Given the description of an element on the screen output the (x, y) to click on. 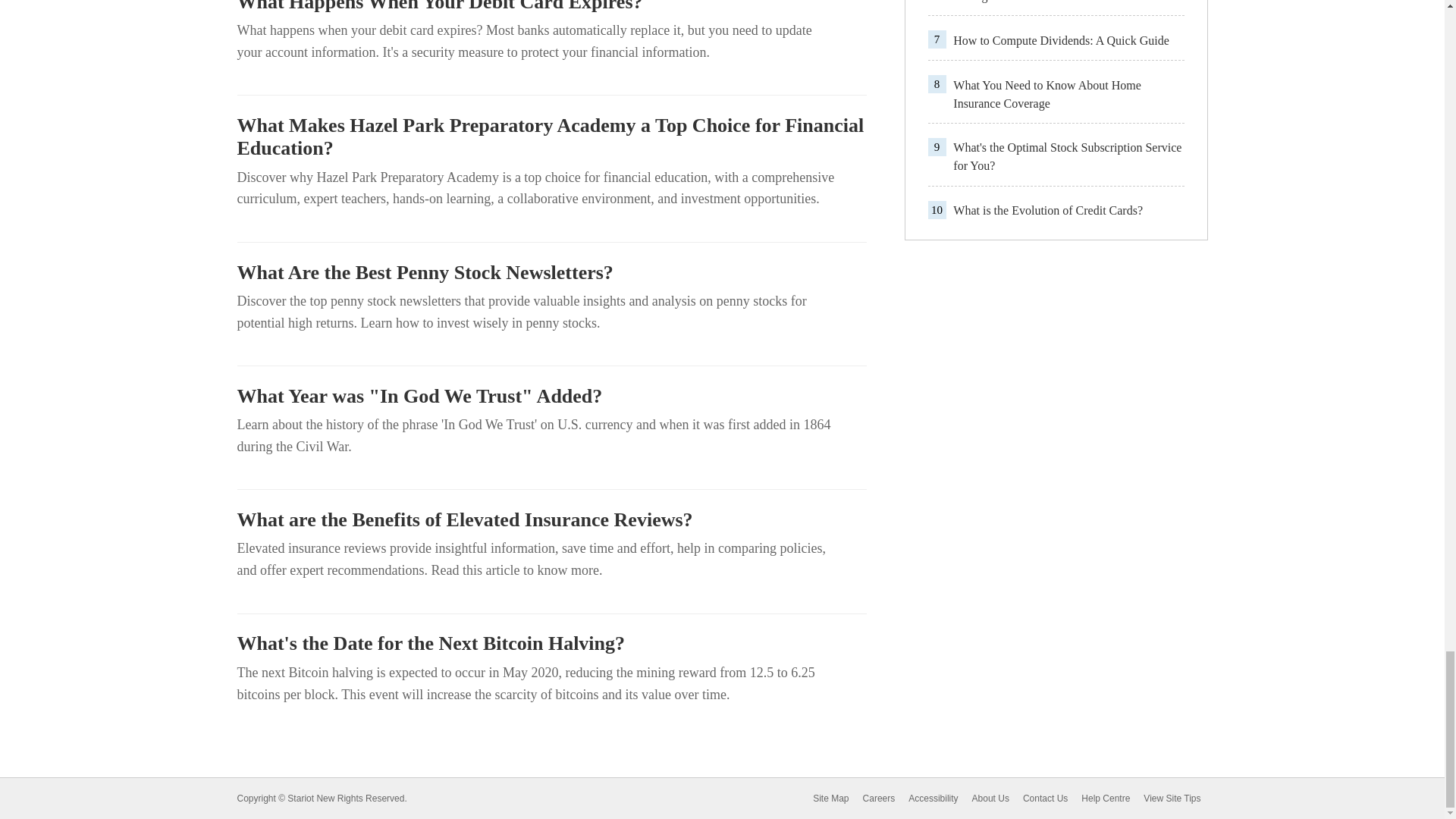
What Year was "In God We Trust" Added? (550, 395)
What's the Date for the Next Bitcoin Halving? (550, 643)
What Are the Best Penny Stock Newsletters? (550, 272)
What Happens When Your Debit Card Expires? (550, 6)
What are the Benefits of Elevated Insurance Reviews? (550, 519)
